Given the description of an element on the screen output the (x, y) to click on. 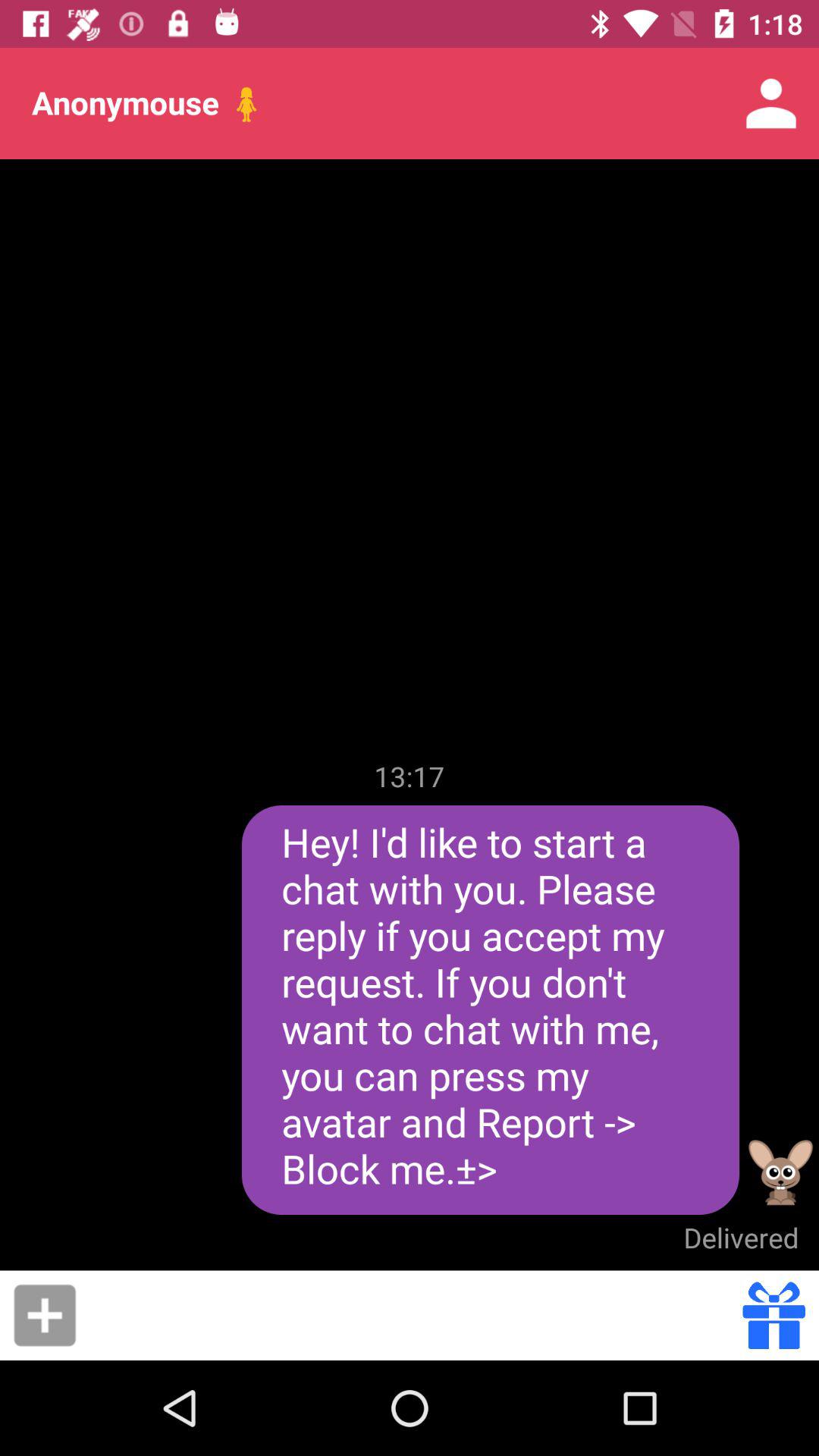
tap item at the top right corner (771, 103)
